Given the description of an element on the screen output the (x, y) to click on. 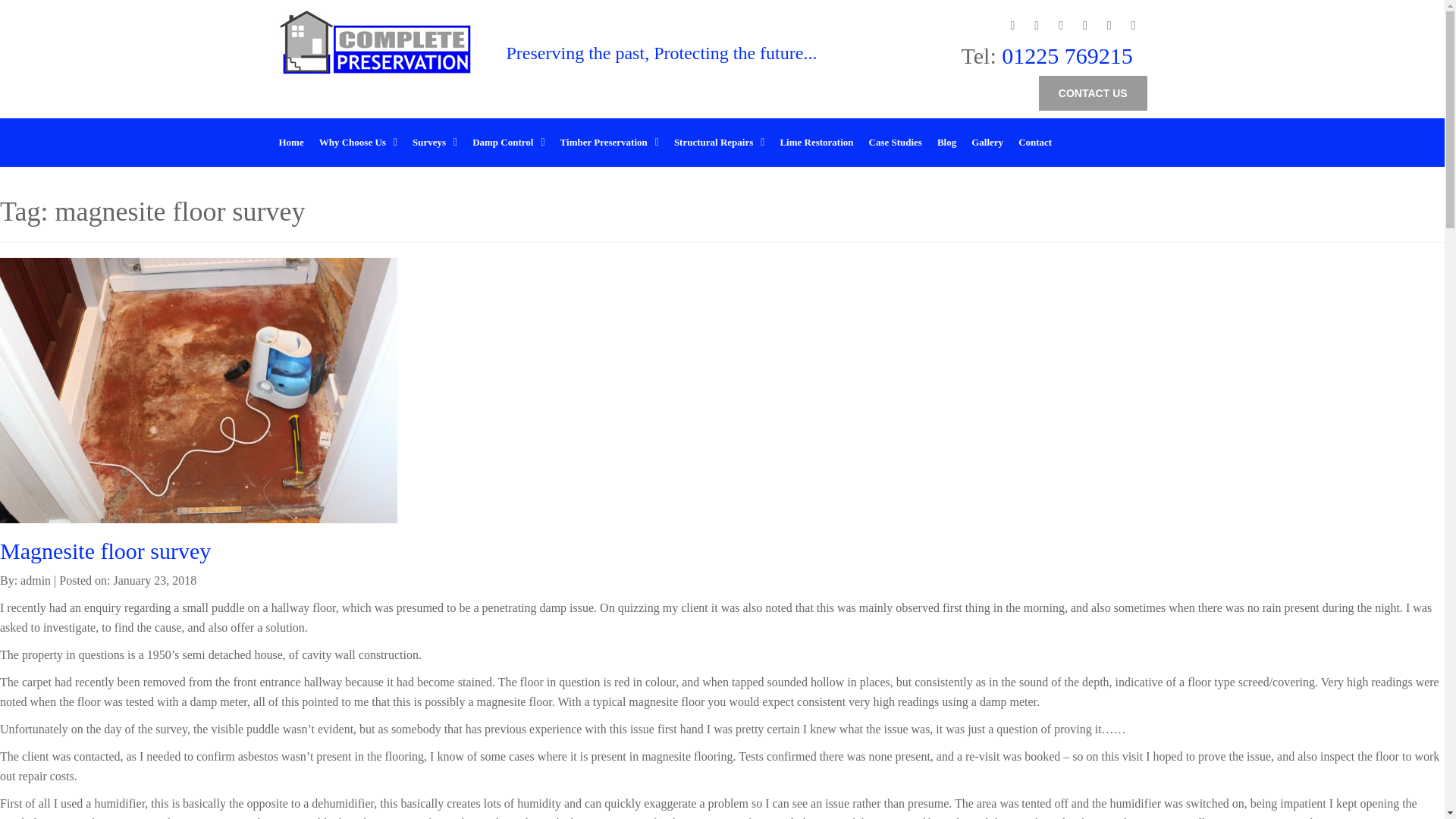
Why Choose Us (358, 142)
Timber Preservation (609, 142)
Damp Control (507, 142)
Surveys (434, 142)
01225 769215 (1063, 54)
CONTACT US (1093, 93)
